Given the description of an element on the screen output the (x, y) to click on. 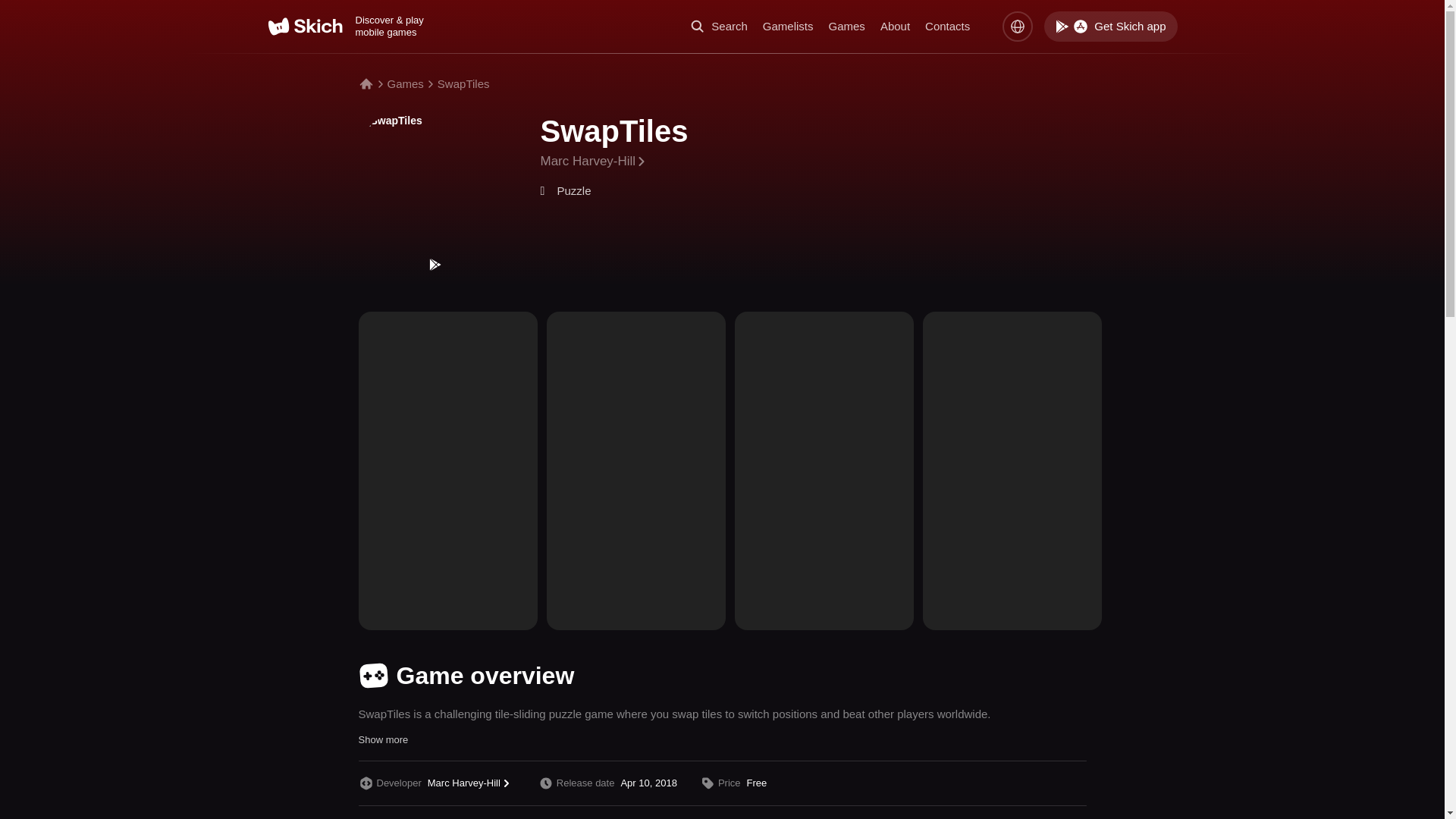
Marc Harvey-Hill (593, 160)
Marc Harvey-Hill (471, 783)
Search (719, 26)
About (895, 26)
Gamelists (787, 26)
Games (405, 83)
Show more (382, 739)
Contacts (946, 26)
Get Skich app (1109, 26)
Games (846, 26)
